Given the description of an element on the screen output the (x, y) to click on. 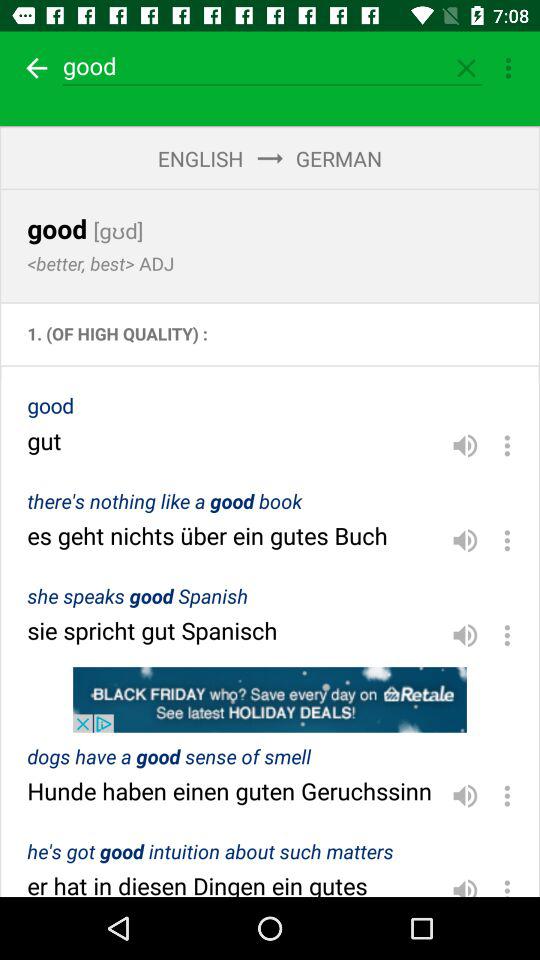
play sound (465, 445)
